Given the description of an element on the screen output the (x, y) to click on. 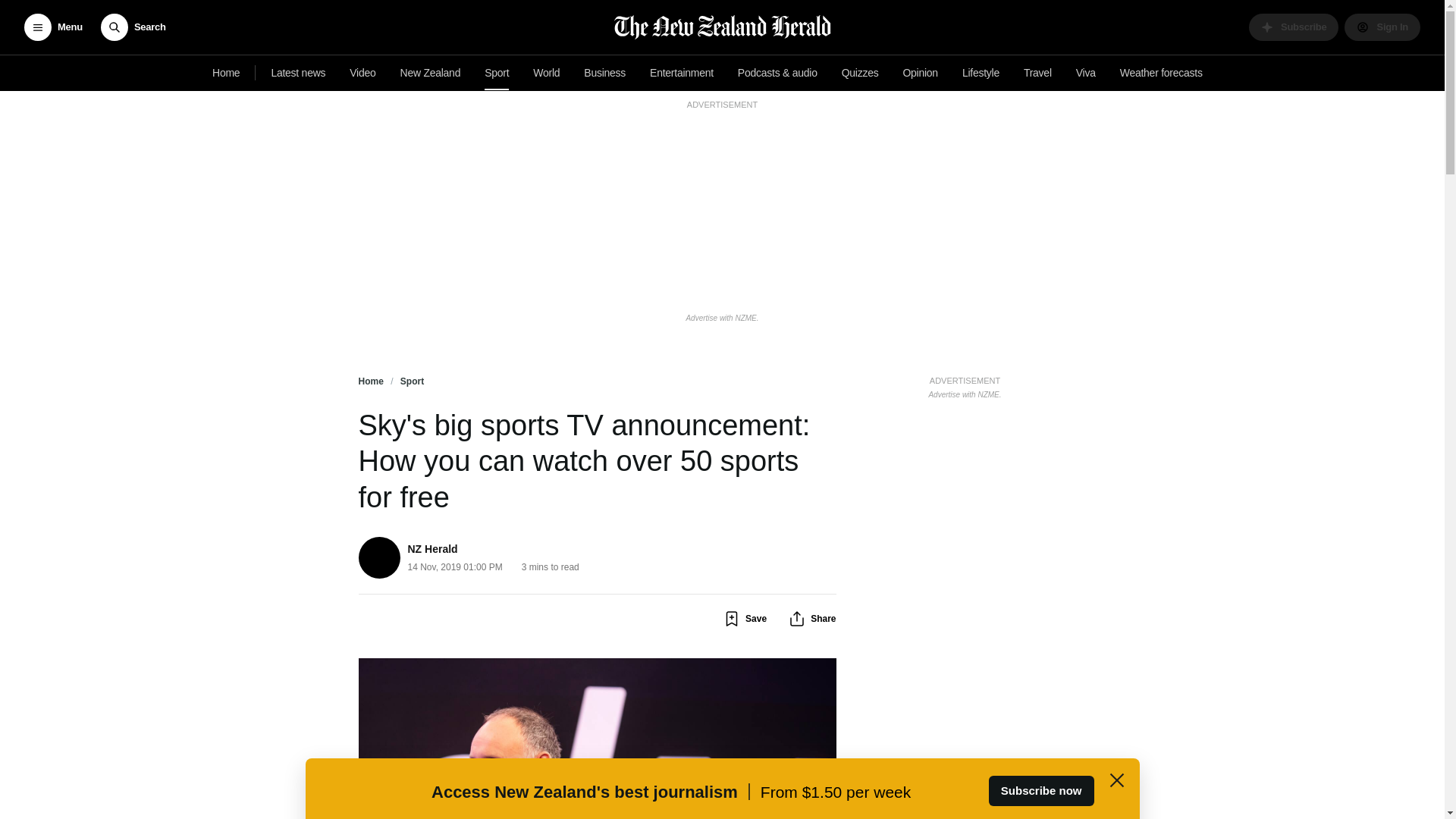
Lifestyle (981, 72)
Manage your account (1382, 26)
Viva (1086, 72)
World (546, 72)
Latest news (298, 72)
Business (604, 72)
Sign In (1382, 26)
Quizzes (860, 72)
Subscribe (964, 384)
